Given the description of an element on the screen output the (x, y) to click on. 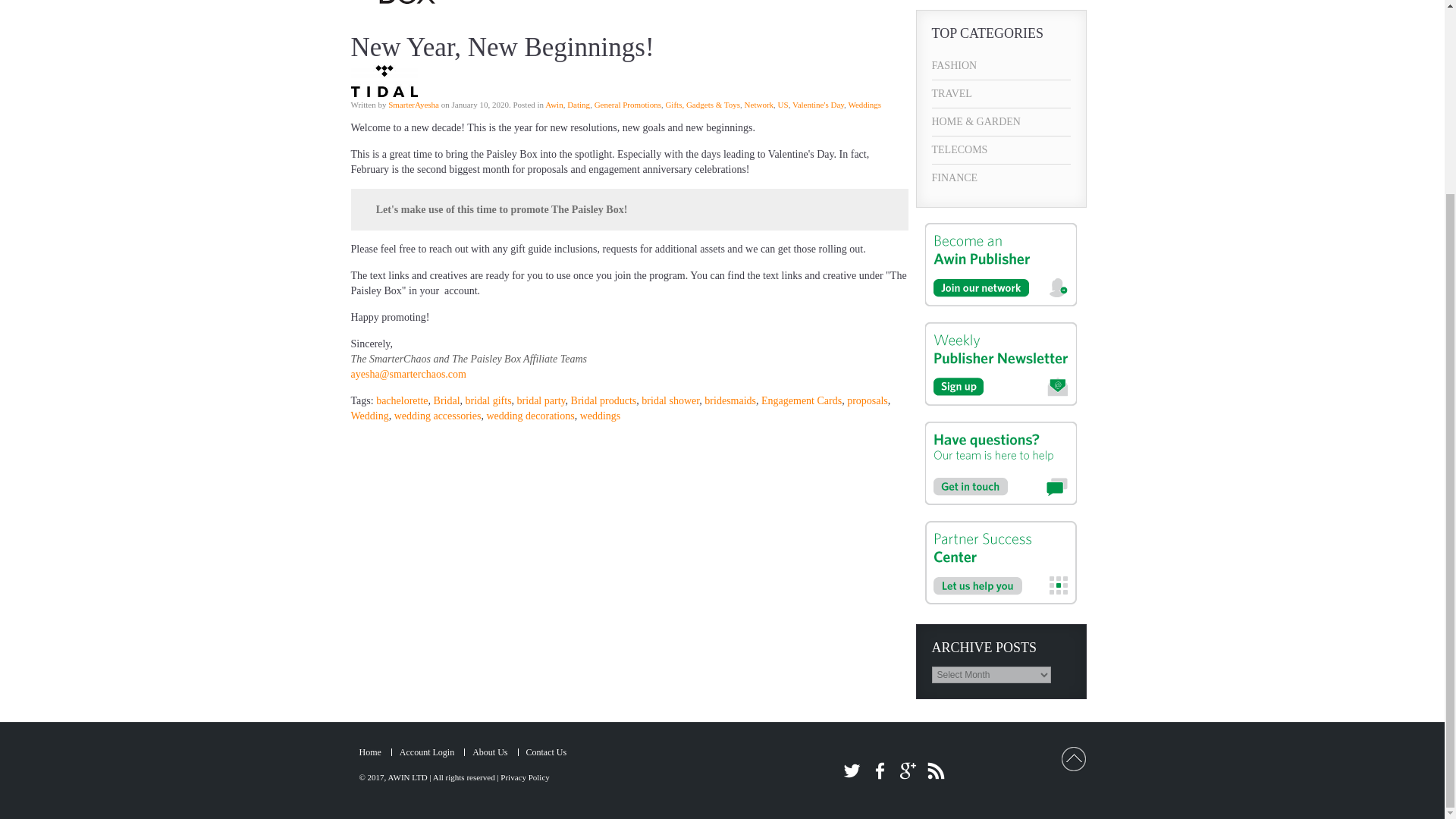
Wedding (369, 415)
Dating (578, 103)
Bridal products (603, 400)
Weddings (863, 103)
weddings (600, 415)
Awin (553, 103)
bridal shower (670, 400)
bridal party (541, 400)
SmarterAyesha (413, 103)
proposals (867, 400)
